Given the description of an element on the screen output the (x, y) to click on. 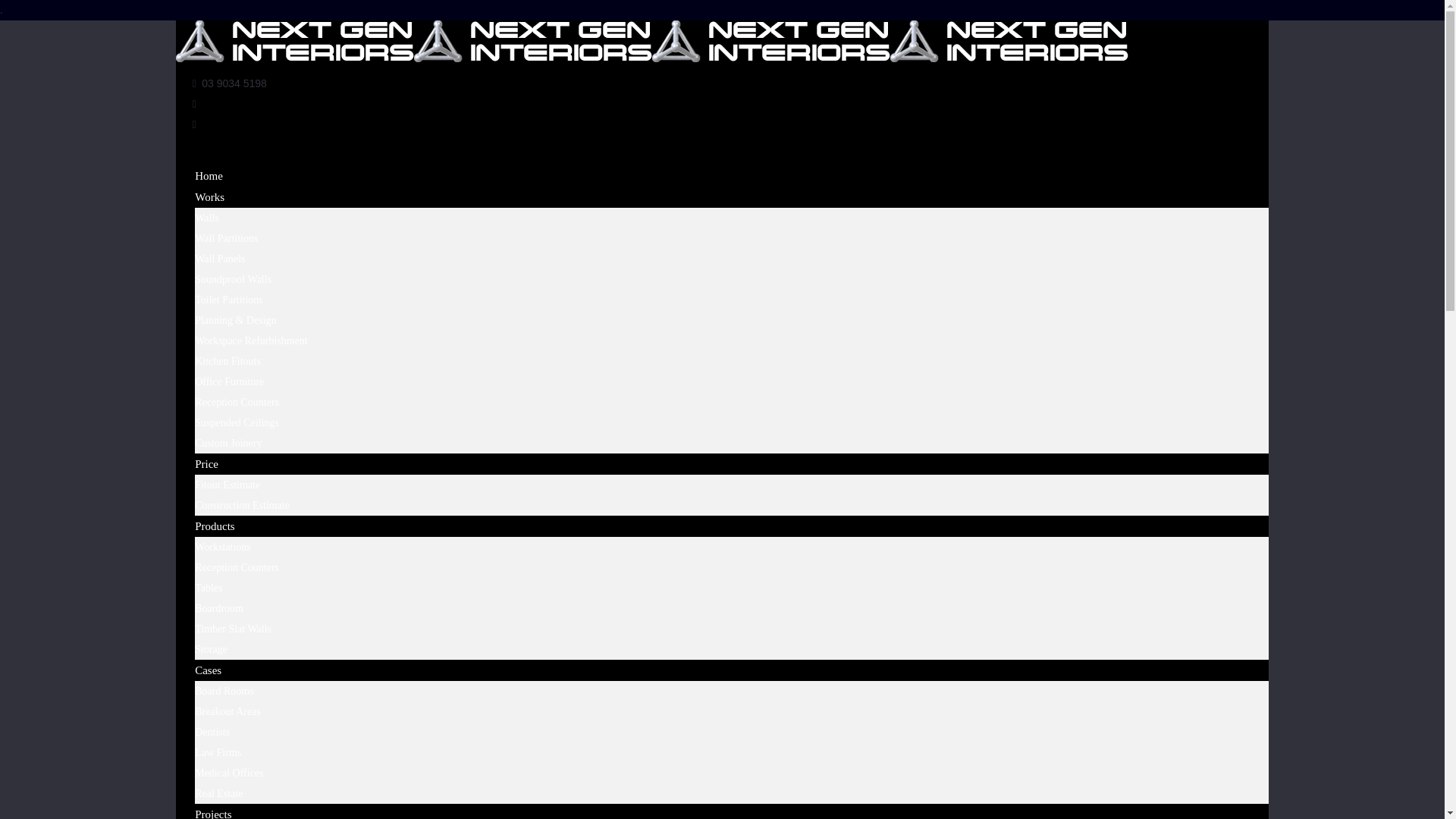
Toilet Partitions Element type: text (228, 299)
Fitout Estimate Element type: text (227, 484)
Next Gen Interiors Element type: hover (651, 58)
Instagram Element type: hover (194, 124)
Soundproof Walls Element type: text (232, 279)
Real Estate Element type: text (218, 793)
Kitchen Fitouts Element type: text (227, 360)
Construction Estimate Element type: text (241, 504)
Law Firms Element type: text (217, 752)
Workspace Refurbishment Element type: text (250, 340)
Facebook Element type: hover (194, 103)
Custom Joinery Element type: text (227, 442)
Timber Slat Walls Element type: text (232, 628)
Storage Element type: text (210, 649)
Reception Counters Element type: text (236, 401)
Board Rooms Element type: text (223, 690)
Price Element type: text (206, 463)
Reception Counters Element type: text (236, 567)
Home Element type: text (208, 175)
Workstations Element type: text (222, 546)
Works Element type: text (209, 196)
Wall Panels Element type: text (219, 258)
Cases Element type: text (207, 669)
Suspended Ceilings Element type: text (236, 422)
Breakout Areas Element type: text (227, 711)
Tables Element type: text (208, 587)
Medical Offices Element type: text (228, 772)
Walls Element type: text (206, 217)
Wall Partitions Element type: text (225, 238)
03 9034 5198 Element type: text (233, 83)
Dentists Element type: text (211, 731)
Planning & Design Element type: text (235, 319)
Boardroom Element type: text (218, 608)
Products Element type: text (214, 525)
Office Furniture Element type: text (228, 381)
